Given the description of an element on the screen output the (x, y) to click on. 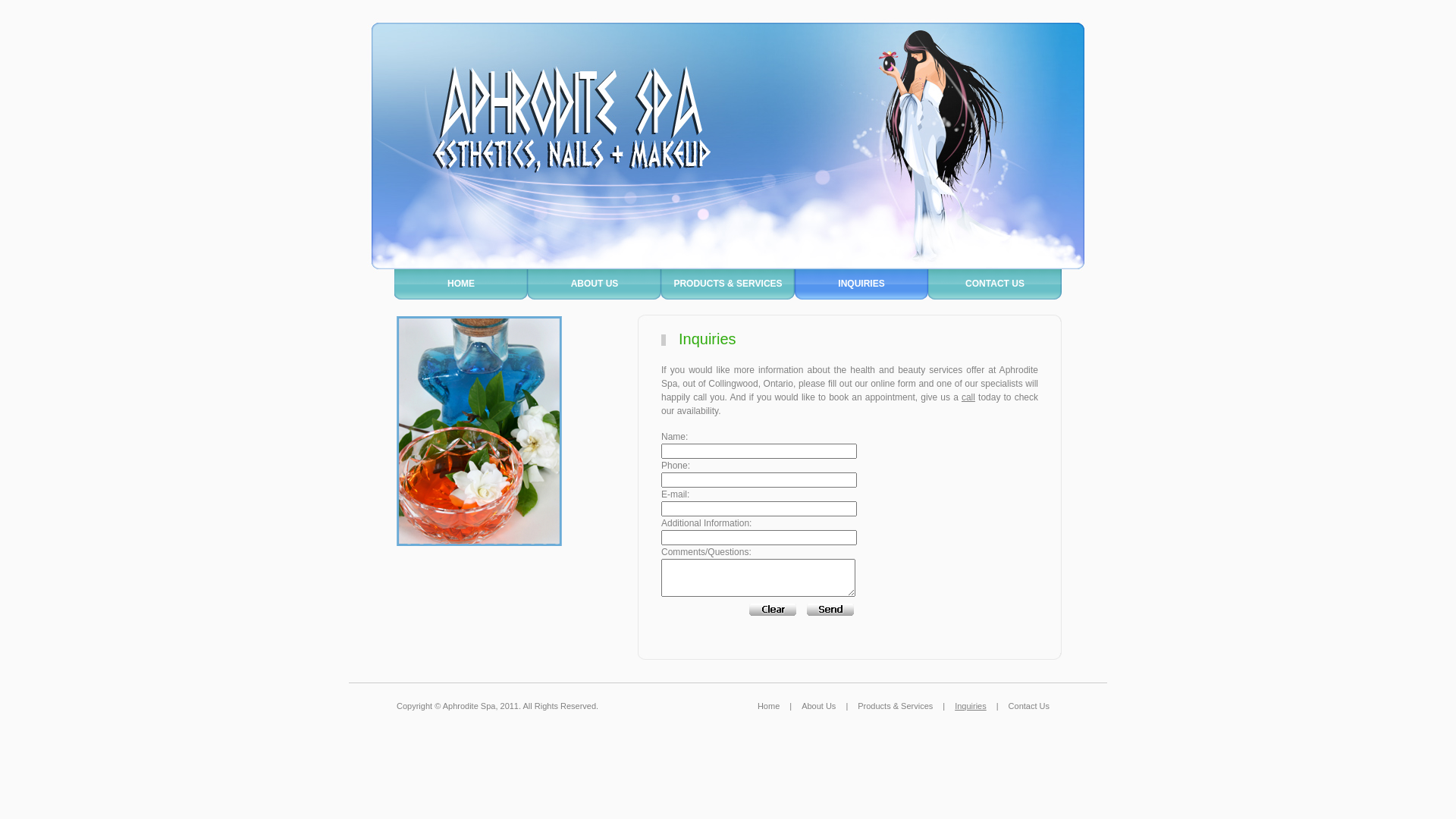
CONTACT US Element type: text (994, 284)
ABOUT US Element type: text (594, 284)
PRODUCTS & SERVICES Element type: text (727, 284)
HOME Element type: text (460, 284)
INQUIRIES Element type: text (861, 284)
Products & Services Element type: text (894, 705)
call Element type: text (968, 397)
Contact Us Element type: text (1028, 705)
Home Element type: text (768, 705)
Inquiries Element type: text (970, 705)
About Us Element type: text (818, 705)
